Given the description of an element on the screen output the (x, y) to click on. 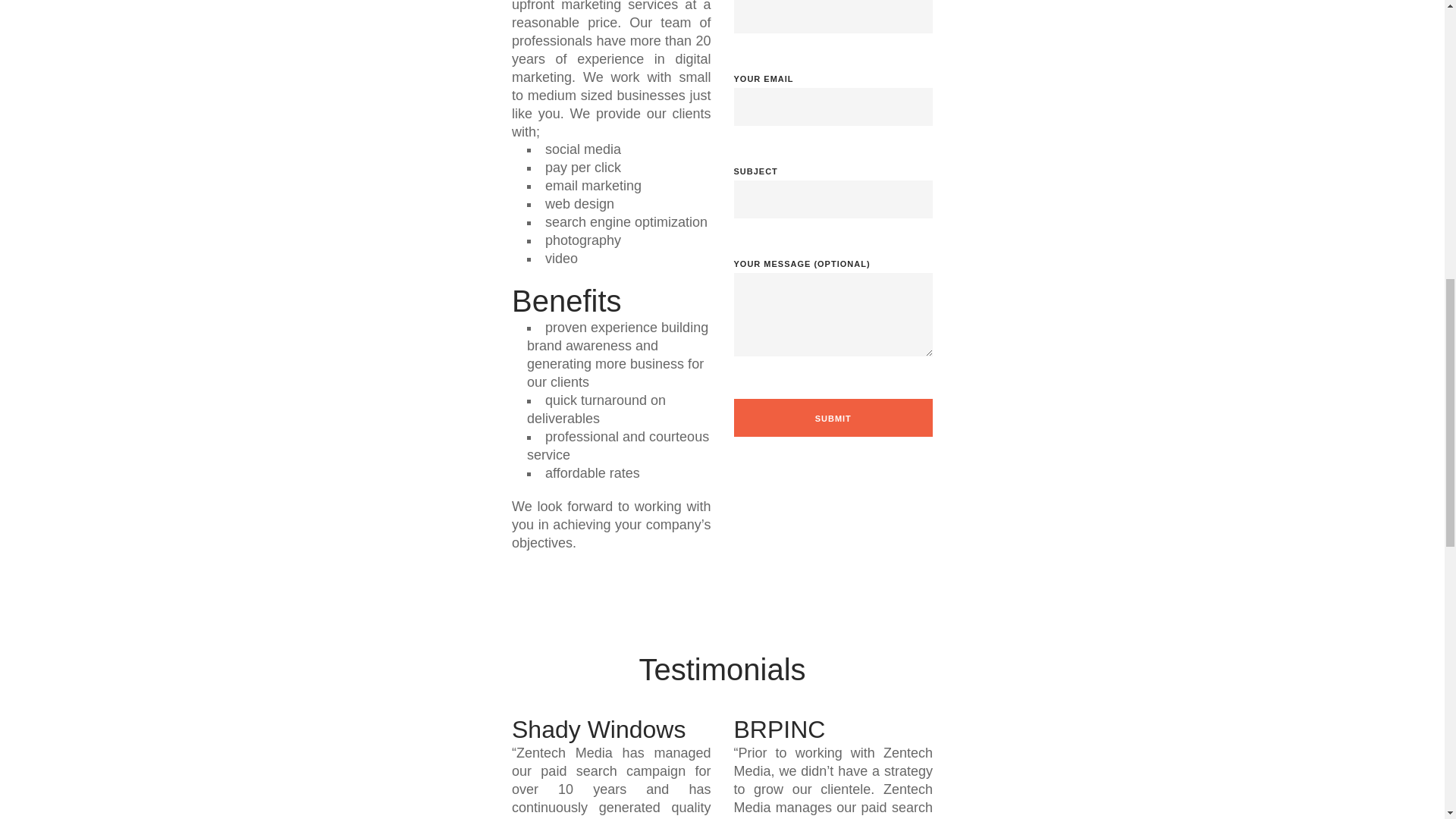
Submit (833, 417)
Submit (833, 417)
